Given the description of an element on the screen output the (x, y) to click on. 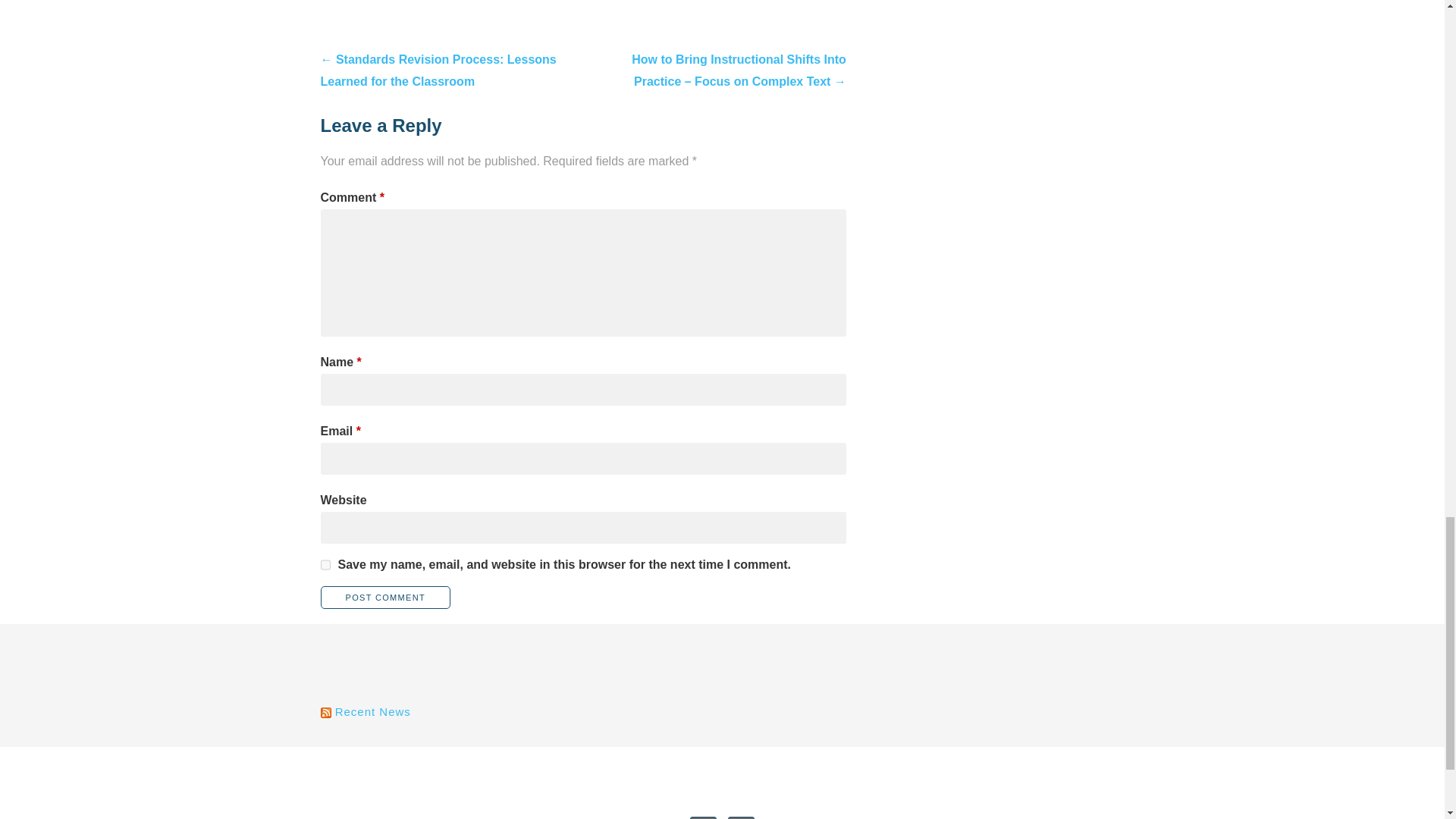
Recent News (372, 711)
yes (325, 564)
Post Comment (384, 597)
Post Comment (384, 597)
TWITTER (703, 817)
FACEBOOK (741, 817)
